Given the description of an element on the screen output the (x, y) to click on. 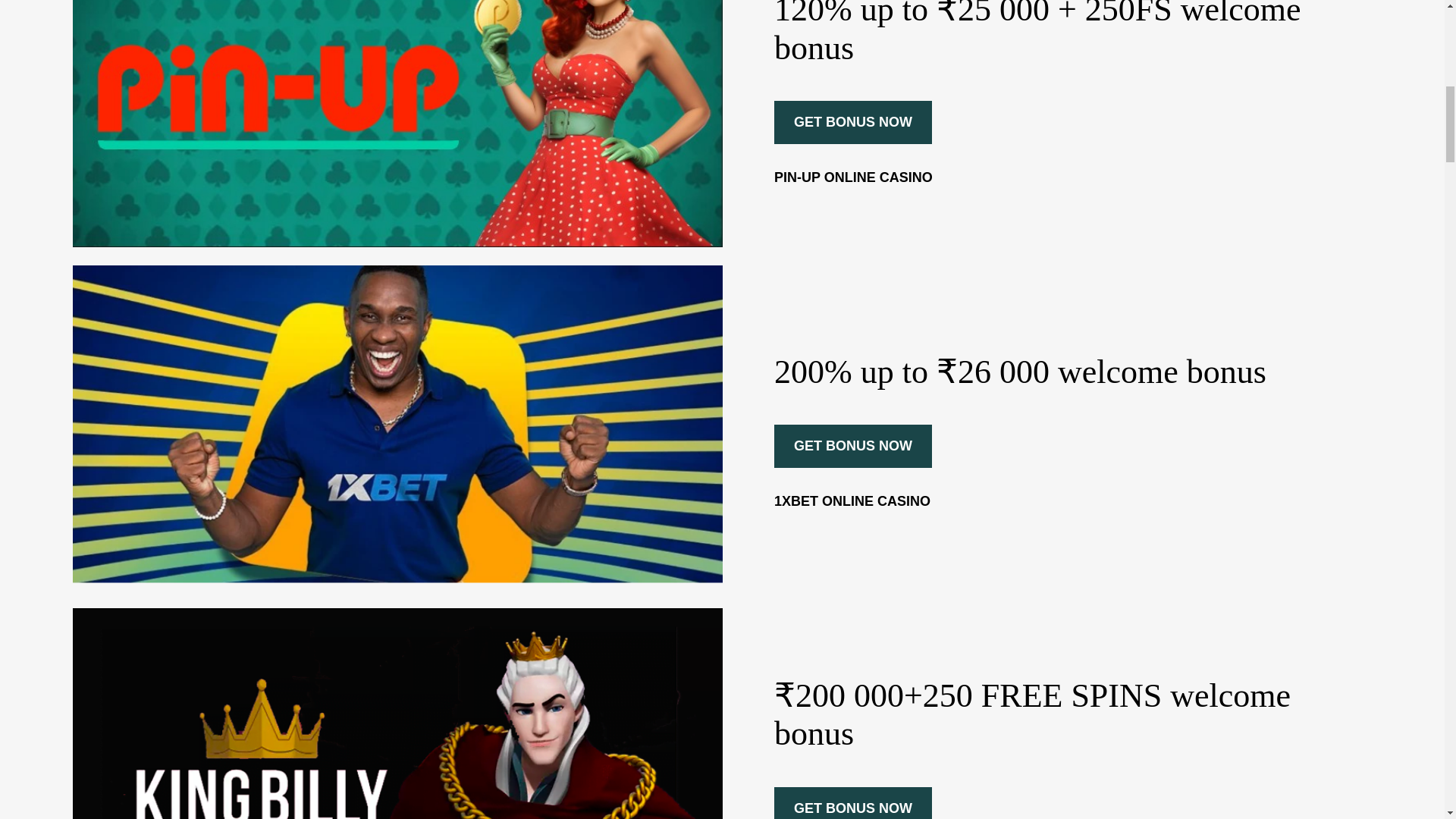
GET BONUS NOW (852, 803)
GET BONUS NOW (852, 446)
GET BONUS NOW (852, 122)
